Given the description of an element on the screen output the (x, y) to click on. 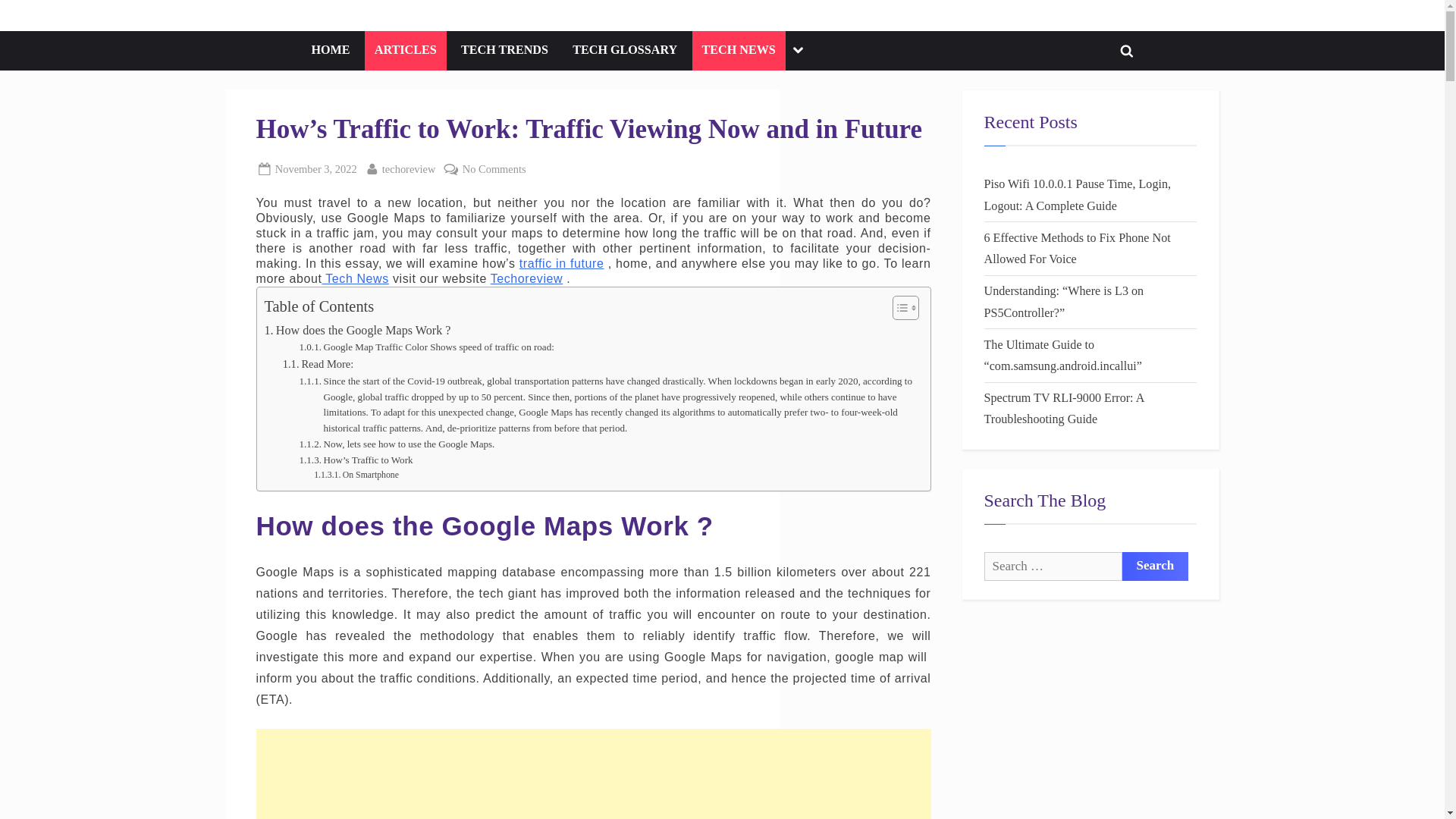
Techoreview (526, 278)
ARTICLES (405, 50)
Read More: (317, 364)
How does the Google Maps Work ? (356, 330)
Search (1155, 566)
Search (1155, 566)
traffic in future (561, 263)
TECH GLOSSARY (624, 50)
TECH TRENDS (504, 50)
